Given the description of an element on the screen output the (x, y) to click on. 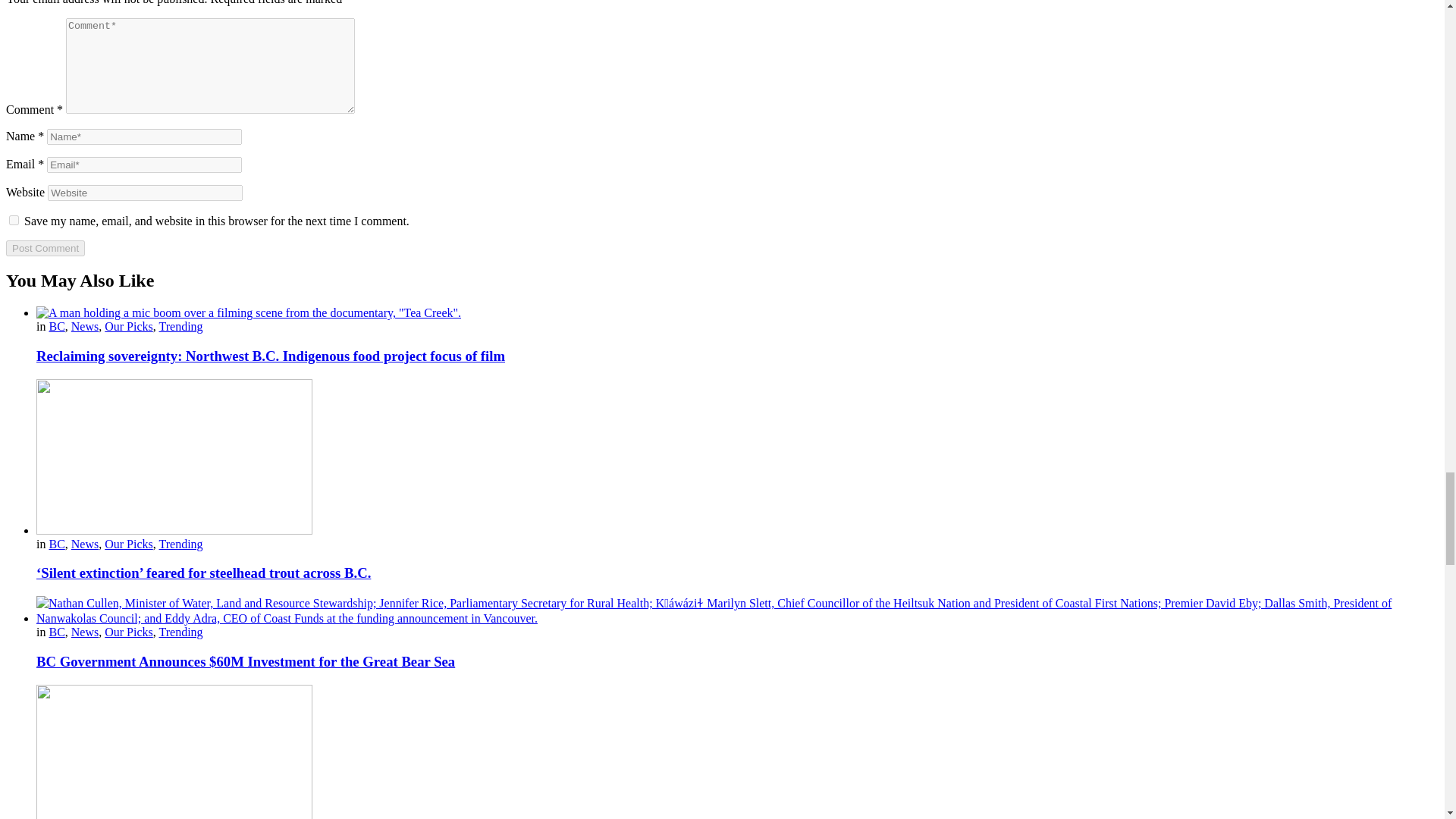
yes (13, 220)
Post Comment (44, 247)
